Given the description of an element on the screen output the (x, y) to click on. 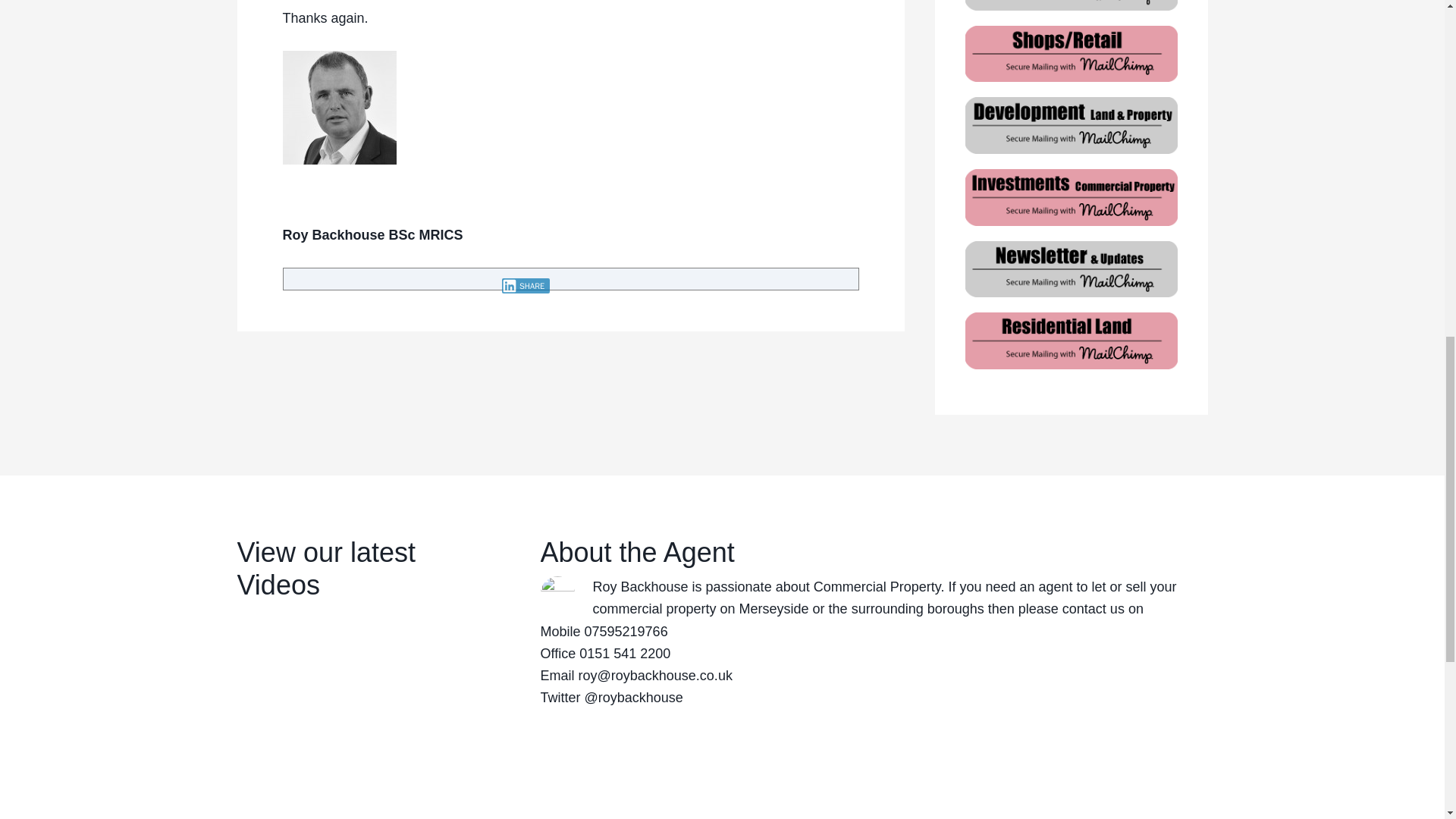
SHARE (526, 285)
offices-icon-red (1069, 5)
offices-icon-red (1069, 51)
offices-icon-red (1069, 122)
